Given the description of an element on the screen output the (x, y) to click on. 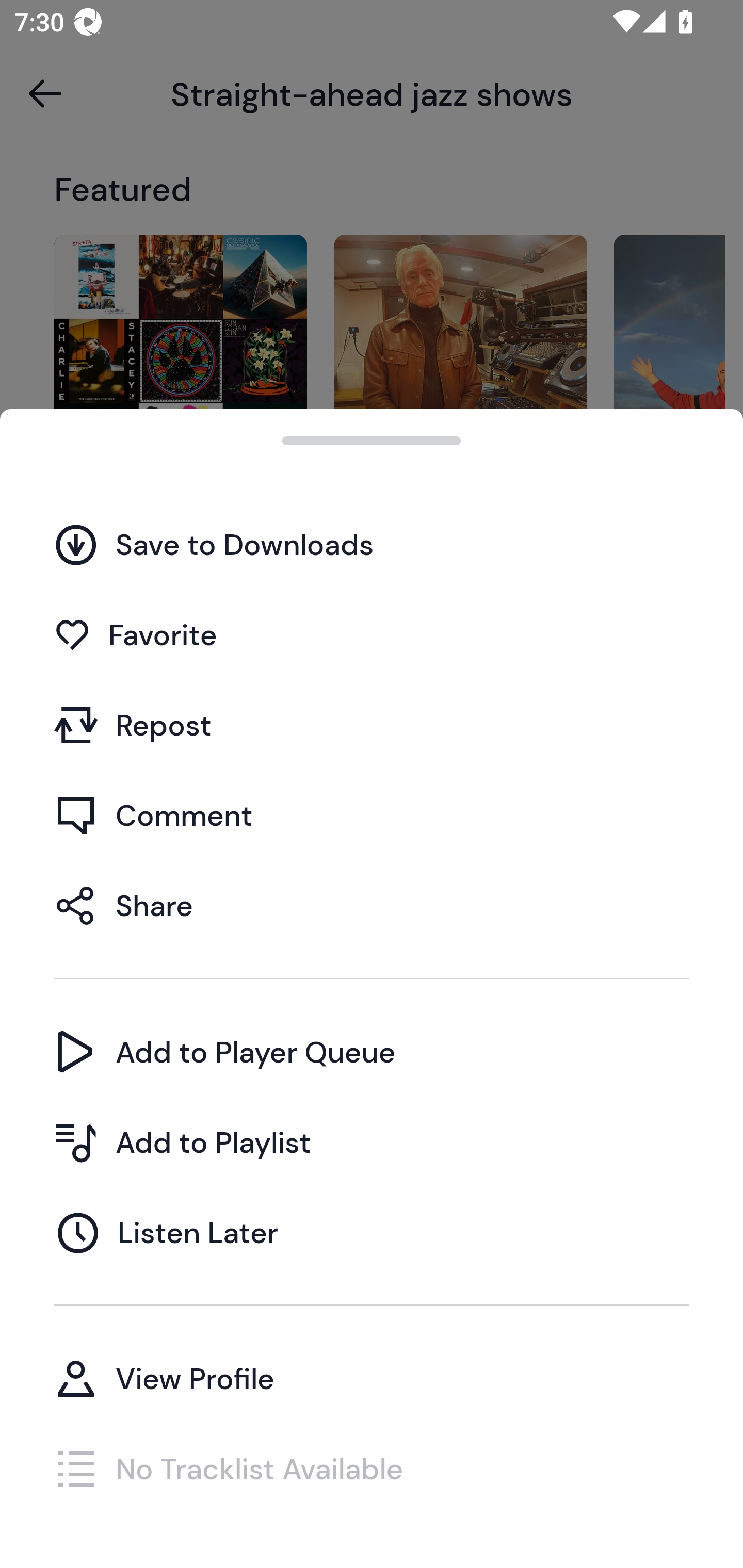
Save to Downloads (371, 543)
Favorite (371, 634)
Repost (371, 724)
Comment (371, 814)
Share (371, 905)
Add to Player Queue (371, 1051)
Add to Playlist (371, 1141)
Listen Later (371, 1231)
View Profile (371, 1377)
No Tracklist Available (371, 1468)
